Given the description of an element on the screen output the (x, y) to click on. 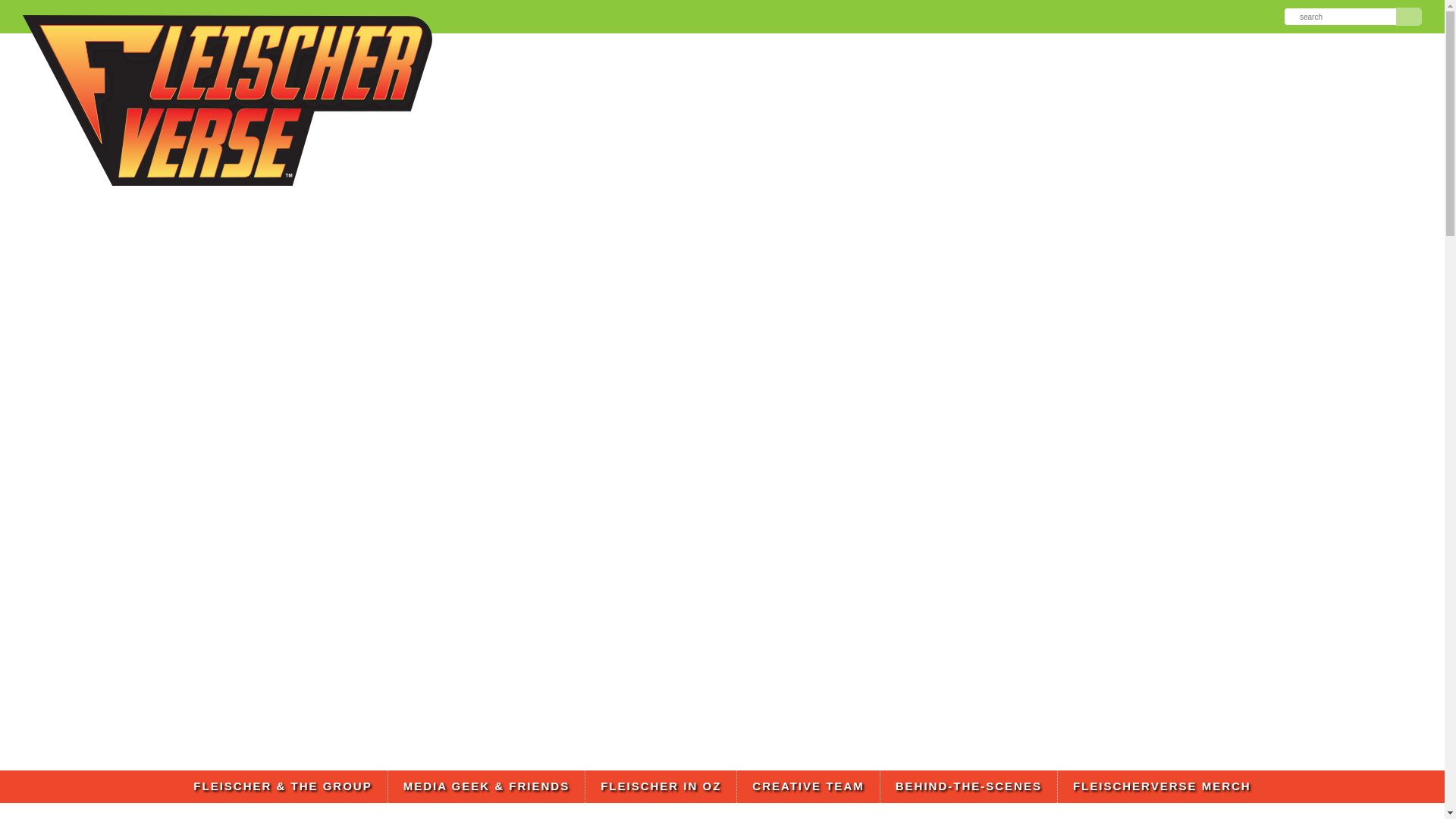
FLEISCHER IN OZ (660, 786)
BEHIND-THE-SCENES (968, 786)
CREATIVE TEAM (807, 786)
FLEISCHERVERSE MERCH (1162, 786)
Search (1409, 16)
